Given the description of an element on the screen output the (x, y) to click on. 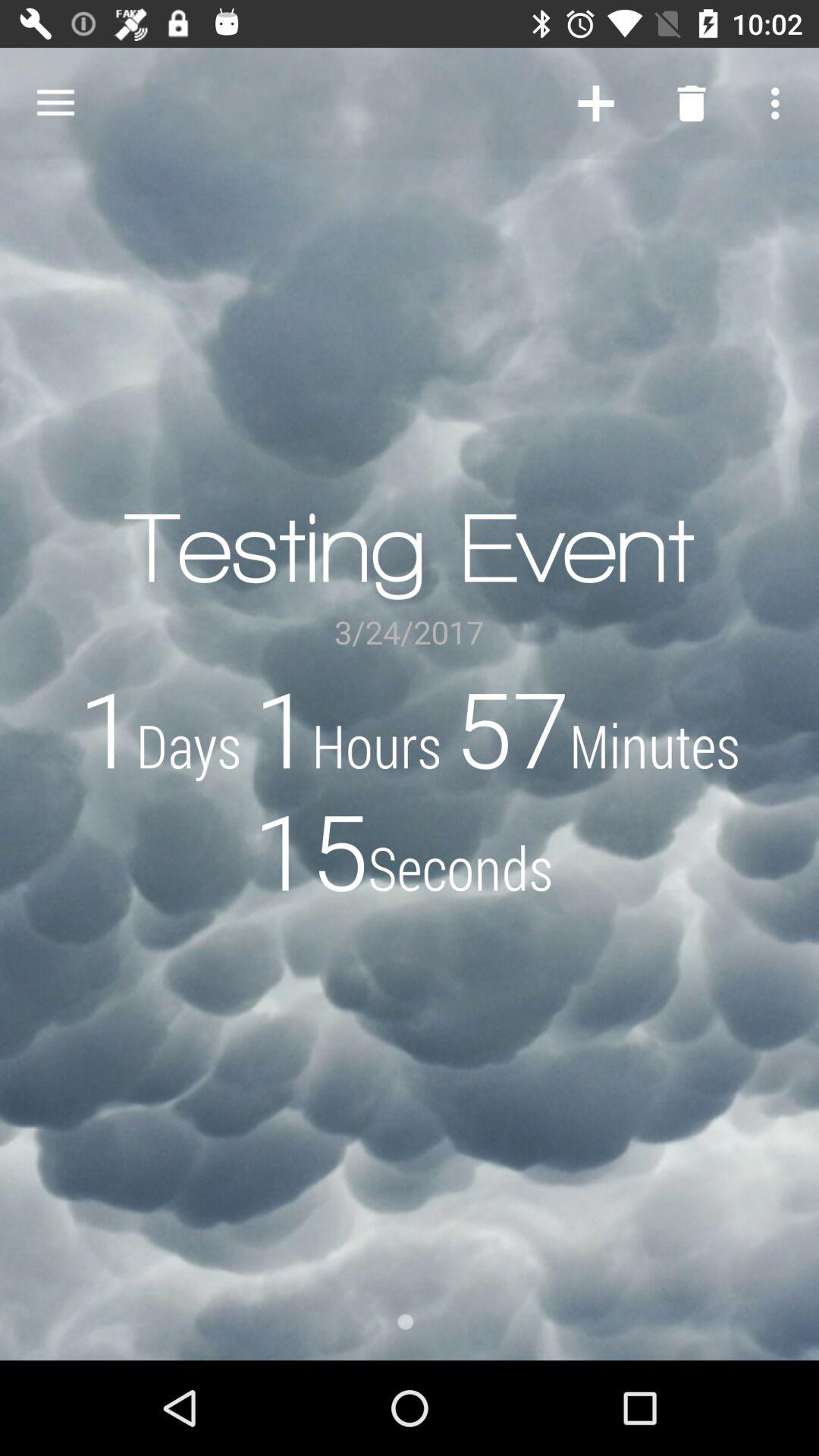
press the icon to the right of the testing event (595, 103)
